Given the description of an element on the screen output the (x, y) to click on. 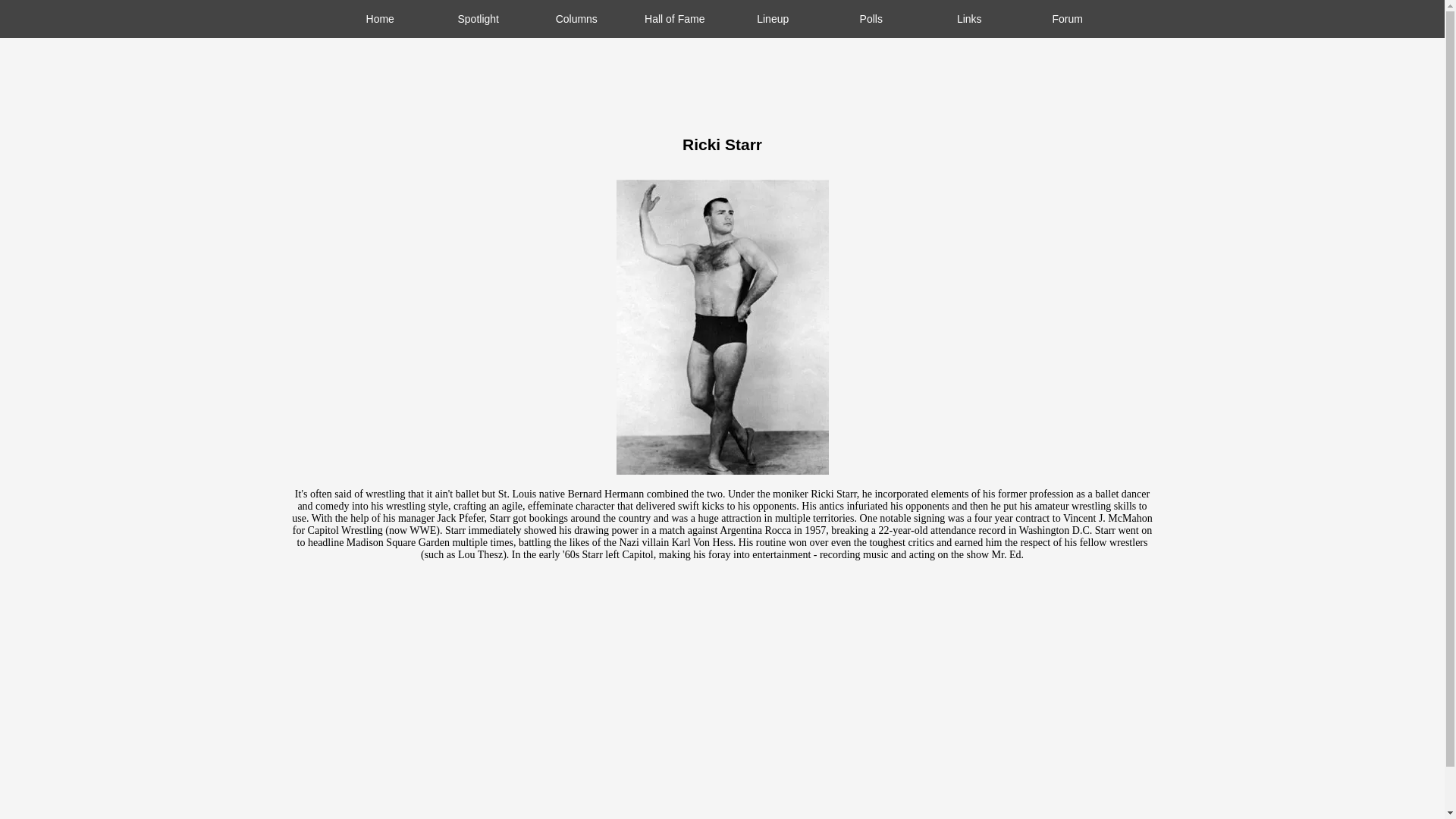
Polls (871, 18)
Hall of Fame (674, 18)
Columns (576, 18)
Home (379, 18)
Lineup (772, 18)
Forum (1066, 18)
Links (968, 18)
Spotlight (478, 18)
